Given the description of an element on the screen output the (x, y) to click on. 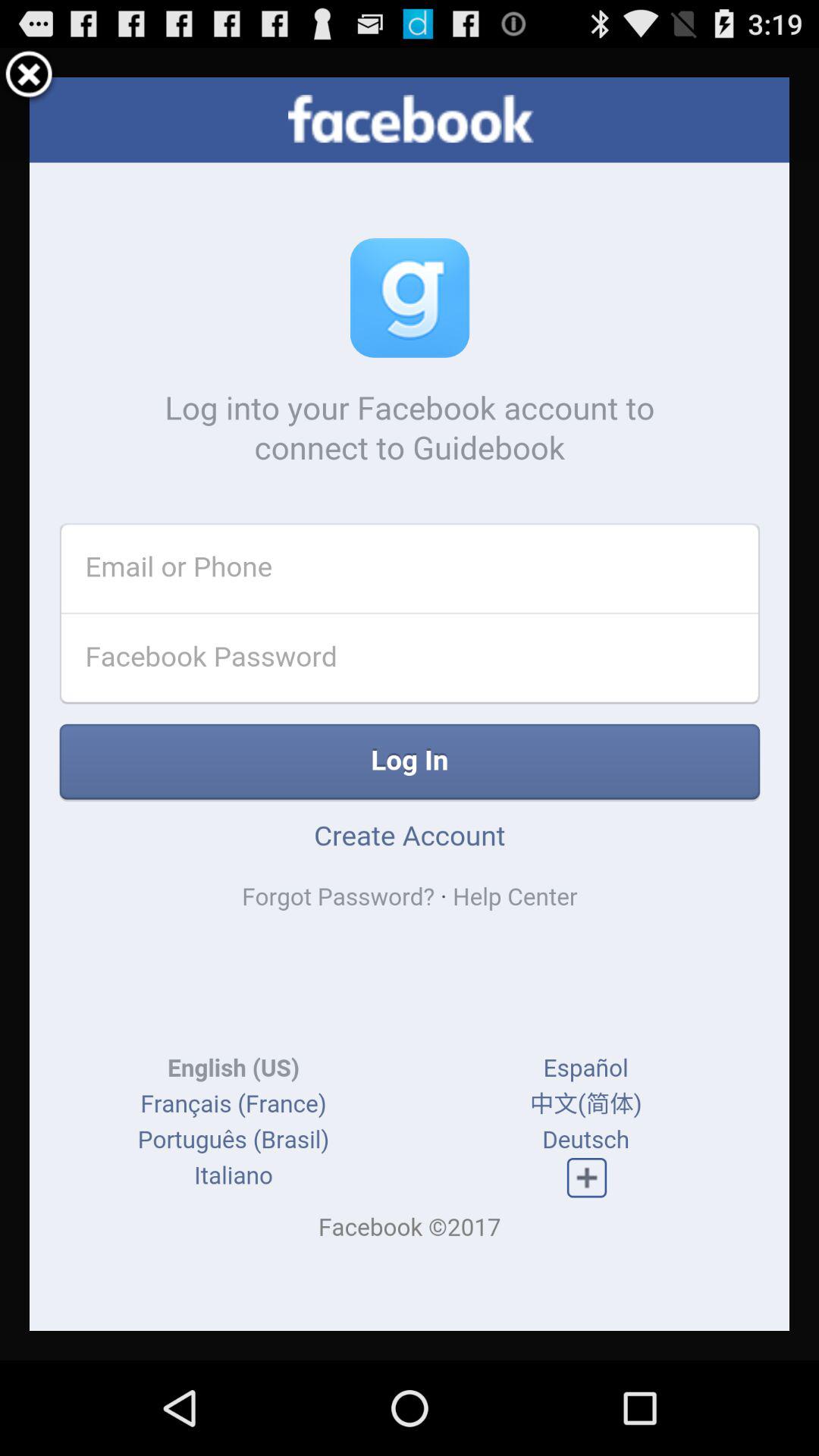
display screen (409, 703)
